Given the description of an element on the screen output the (x, y) to click on. 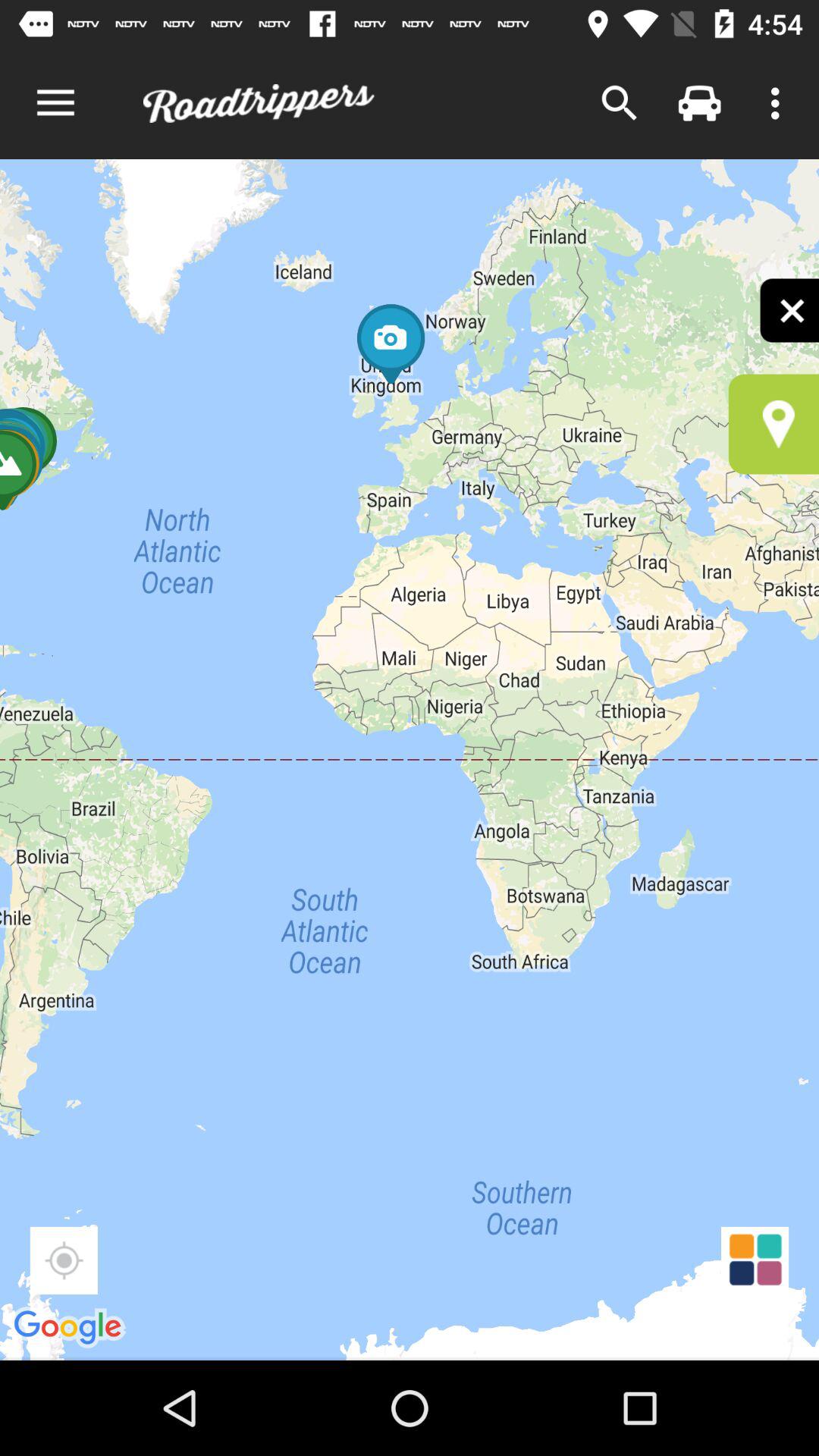
look at markers (773, 424)
